Given the description of an element on the screen output the (x, y) to click on. 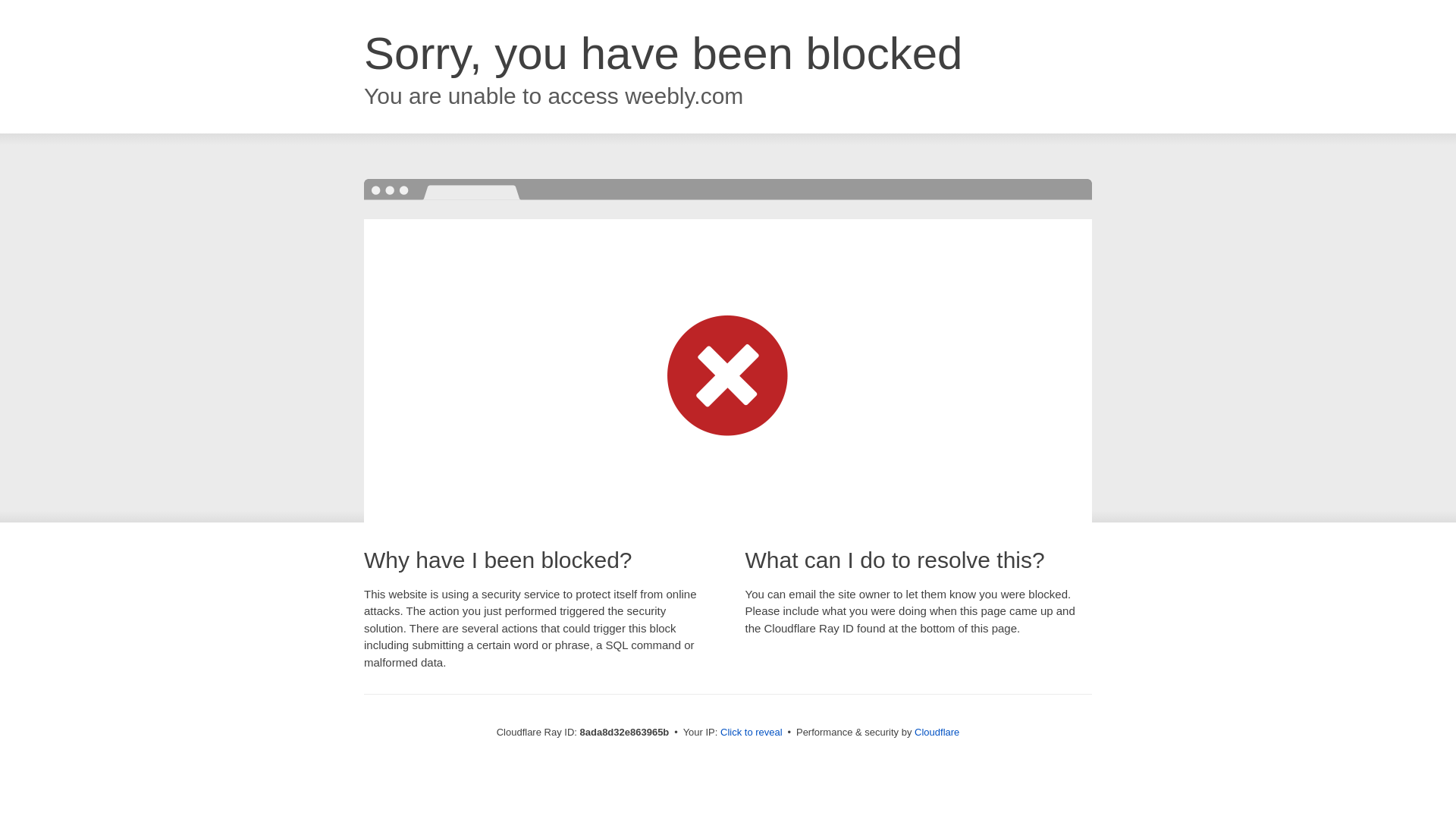
Click to reveal (751, 732)
Cloudflare (936, 731)
